Given the description of an element on the screen output the (x, y) to click on. 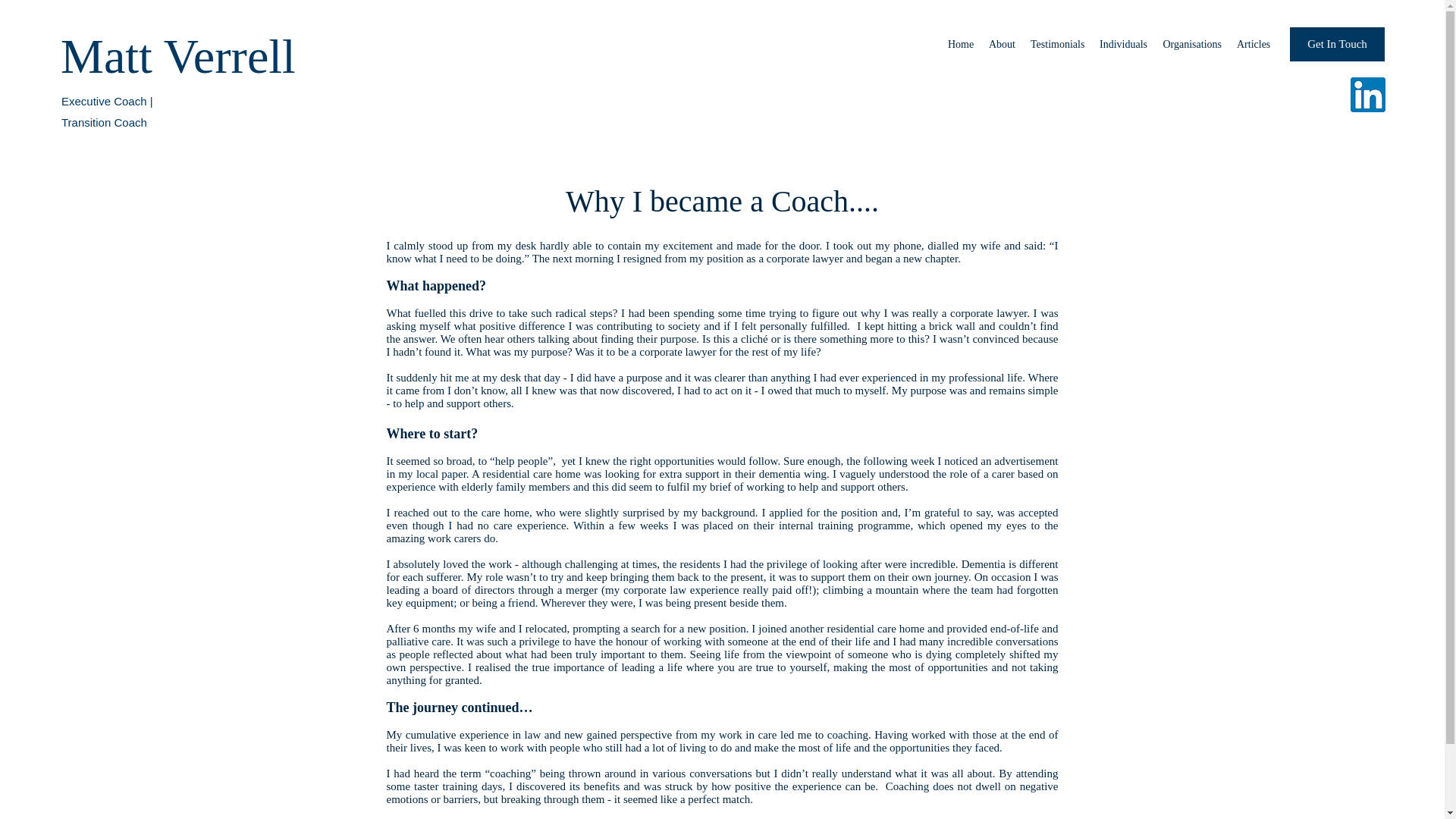
Get In Touch (1337, 44)
Testimonials (1057, 44)
Home (960, 44)
Articles (1253, 44)
About (1002, 44)
